Given the description of an element on the screen output the (x, y) to click on. 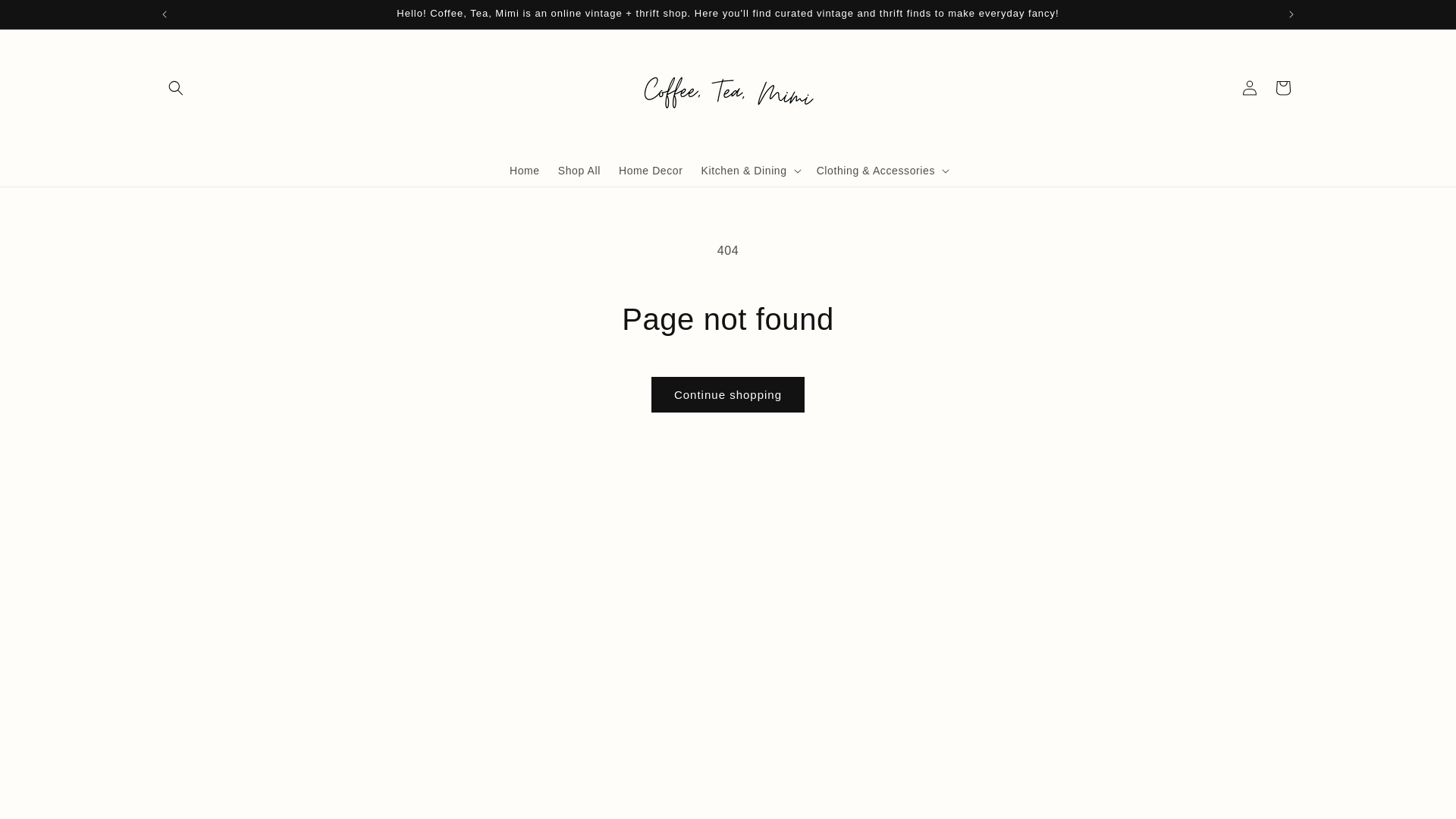
Shop All (579, 170)
Home Decor (651, 170)
Log in (1249, 87)
Cart (1283, 87)
Continue shopping (727, 394)
Skip to content (45, 17)
Home (524, 170)
